Given the description of an element on the screen output the (x, y) to click on. 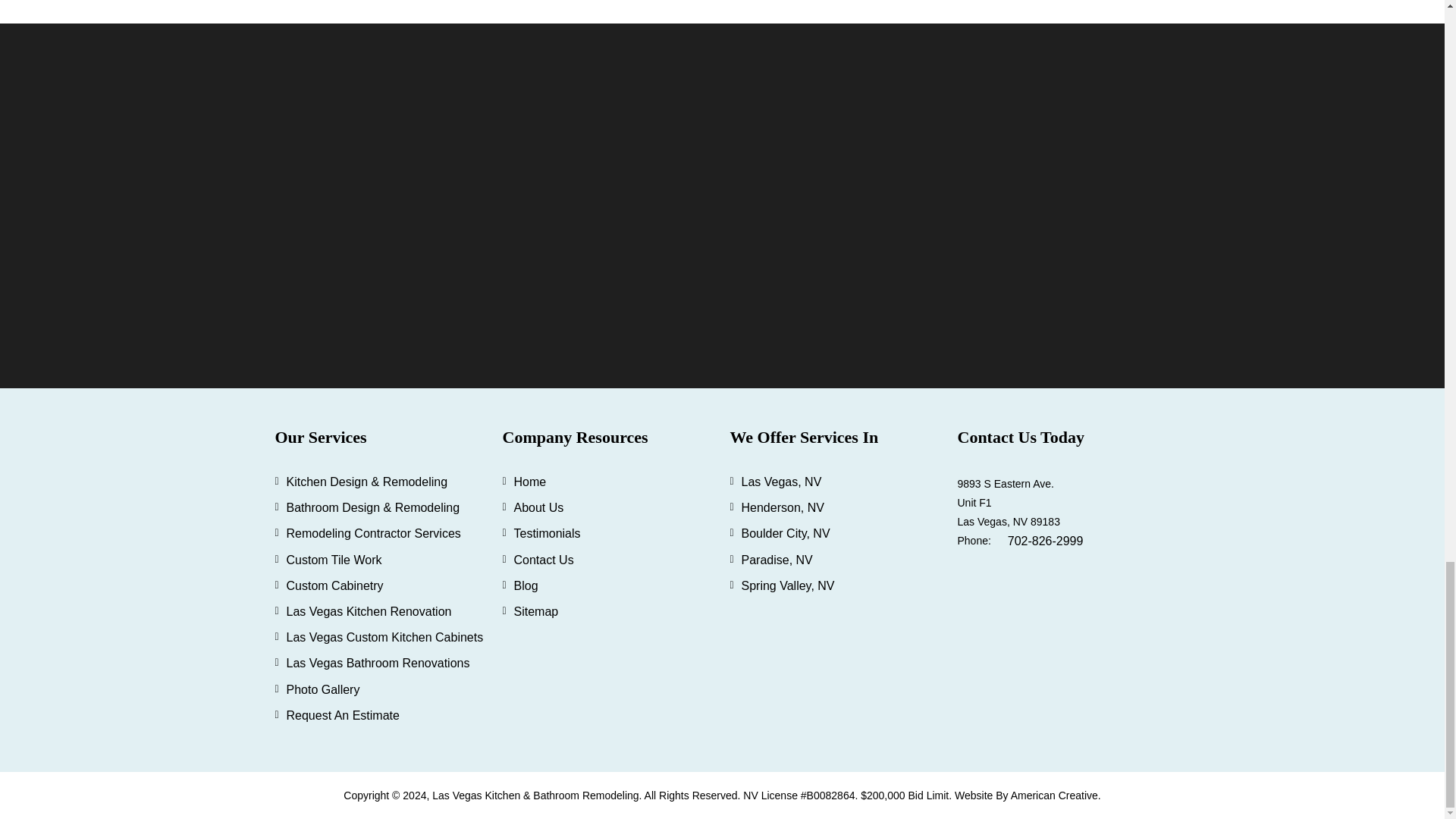
Custom Tile Work (333, 559)
Remodeling Contractor Services (373, 533)
Las Vegas Kitchen Renovation (368, 611)
Custom Cabinetry (335, 585)
Las Vegas Custom Kitchen Cabinets (384, 636)
